Given the description of an element on the screen output the (x, y) to click on. 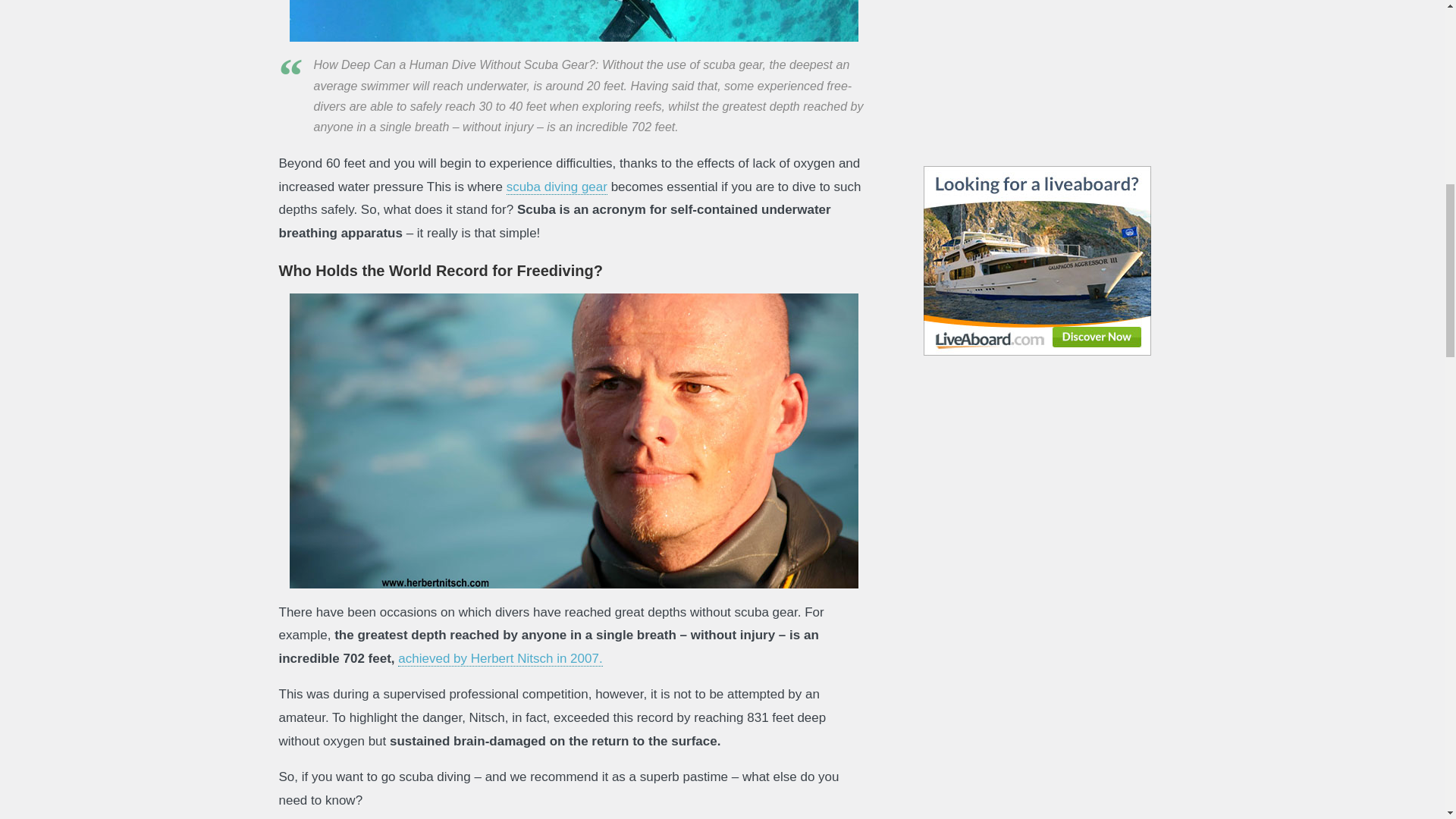
Advertisement (1037, 52)
